Given the description of an element on the screen output the (x, y) to click on. 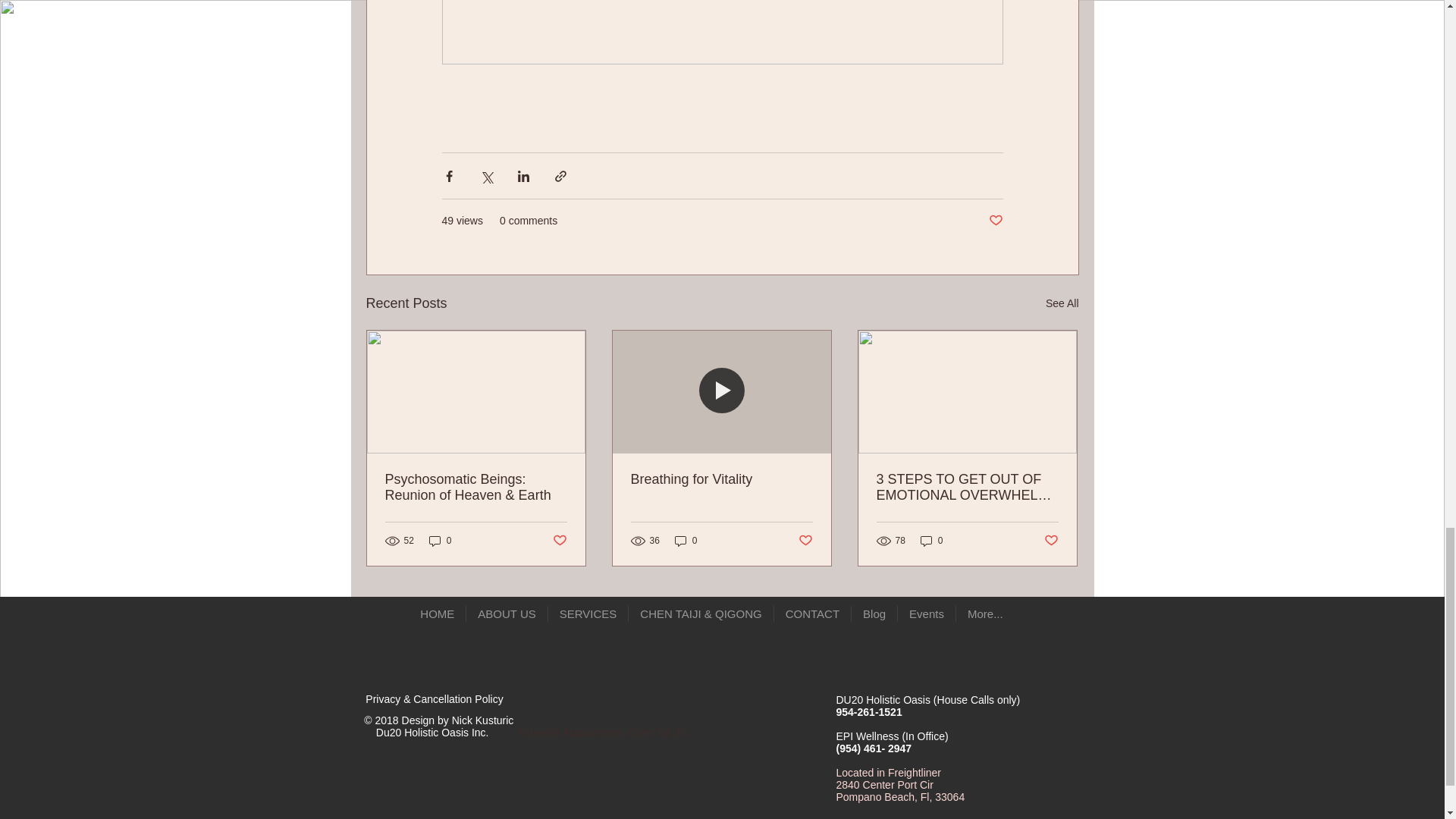
0 (440, 540)
3 STEPS TO GET OUT OF EMOTIONAL OVERWHELM NOW (967, 487)
0 (685, 540)
0 (931, 540)
Breathing for Vitality (721, 479)
See All (1061, 303)
Post not marked as liked (1050, 540)
ABOUT US (506, 615)
Post not marked as liked (558, 540)
Post not marked as liked (804, 540)
